Given the description of an element on the screen output the (x, y) to click on. 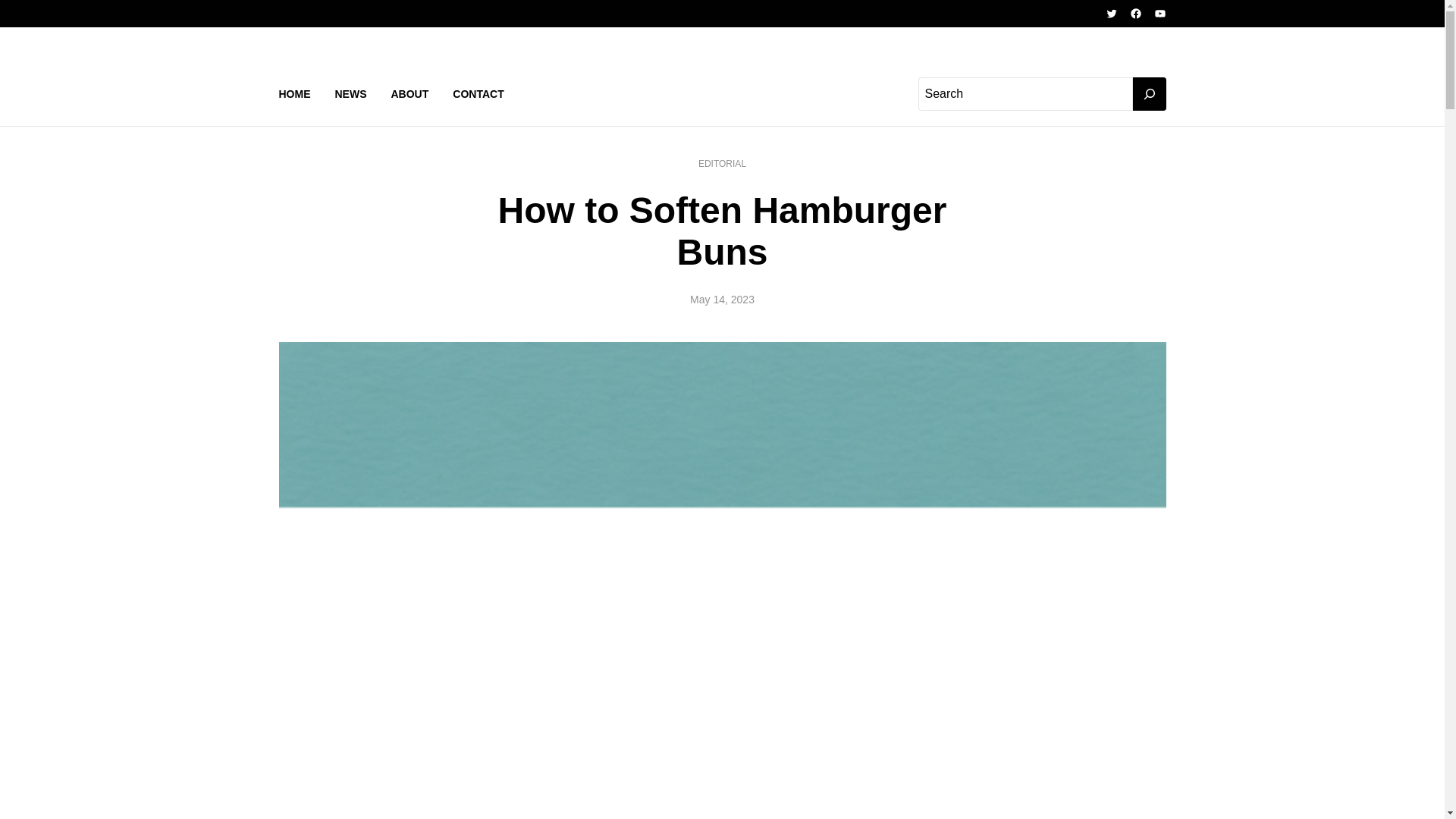
YouTube (1160, 13)
ADVERTISE (446, 13)
Facebook (1135, 13)
NEWS (350, 93)
CONTACT (477, 93)
NEWS (295, 13)
ABOUT (410, 93)
Twitter (1111, 13)
CONTACT (525, 13)
LIFESTYLE (362, 13)
HOME (295, 93)
EDITORIAL (721, 163)
